Given the description of an element on the screen output the (x, y) to click on. 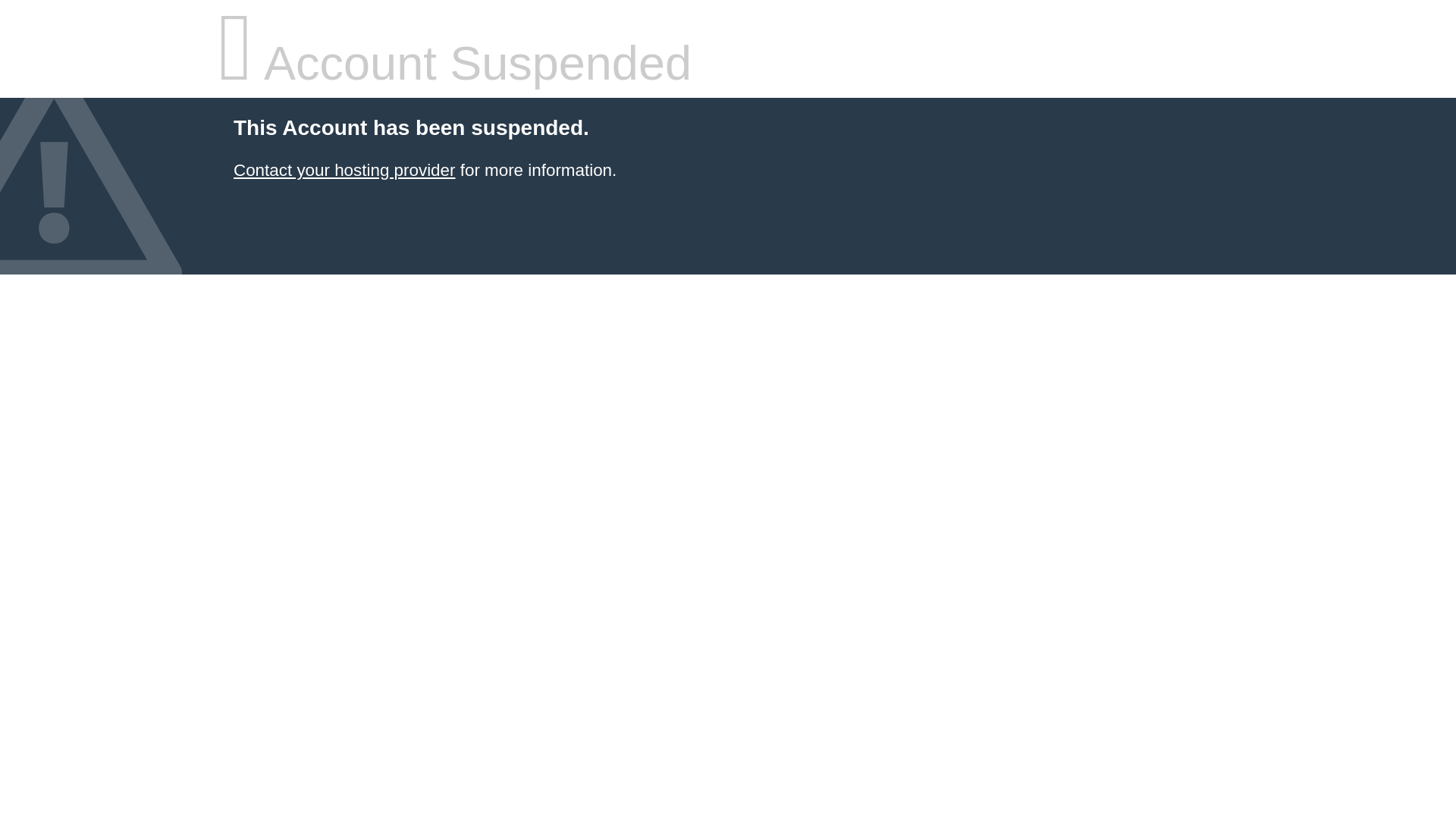
Contact your hosting provider (343, 169)
